Given the description of an element on the screen output the (x, y) to click on. 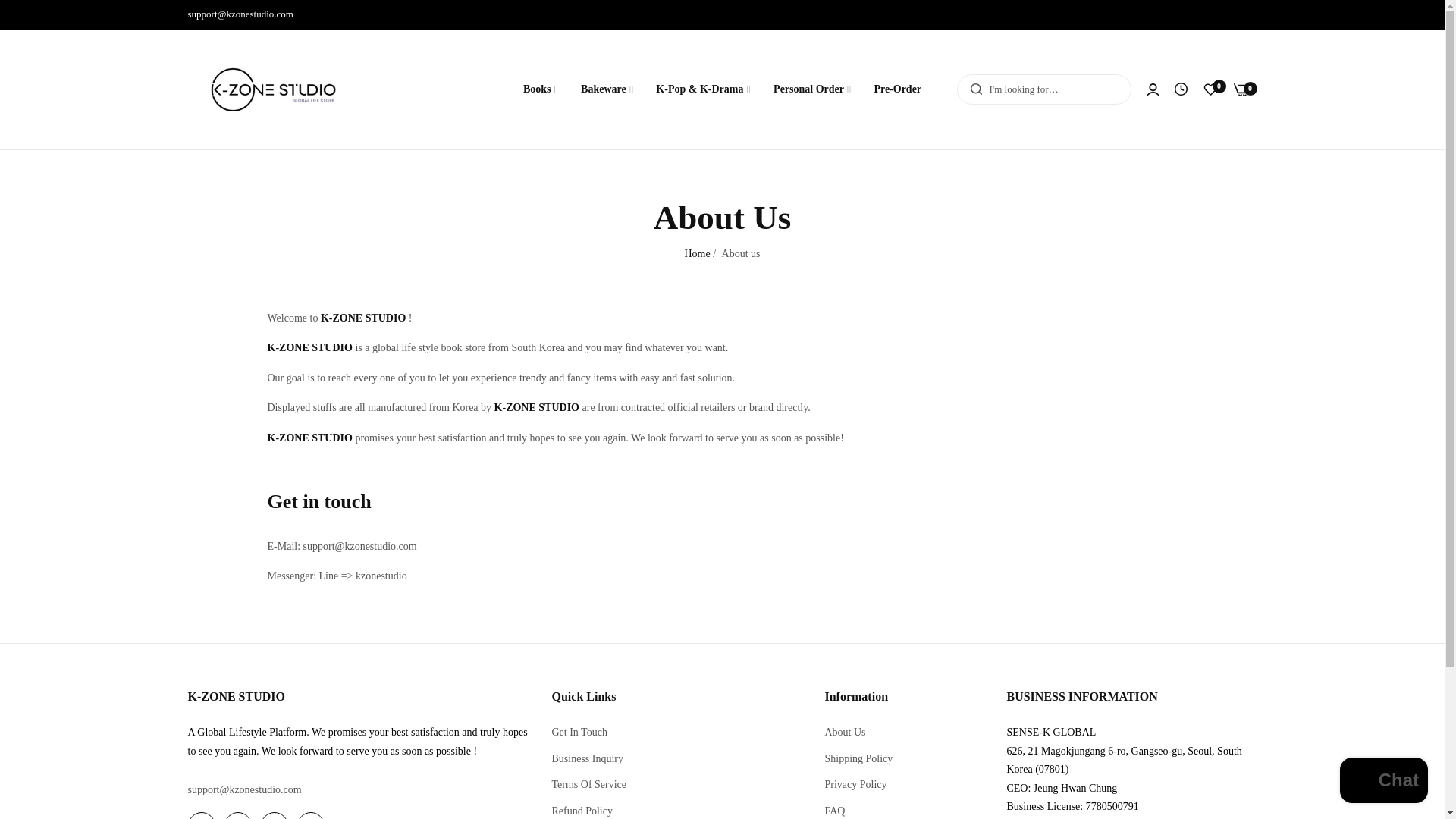
K-ZONE STUDIO (272, 89)
Personal Order (811, 89)
Books (540, 89)
Shopify online store chat (1383, 781)
Bakeware (607, 89)
Pre-Order (897, 89)
